Given the description of an element on the screen output the (x, y) to click on. 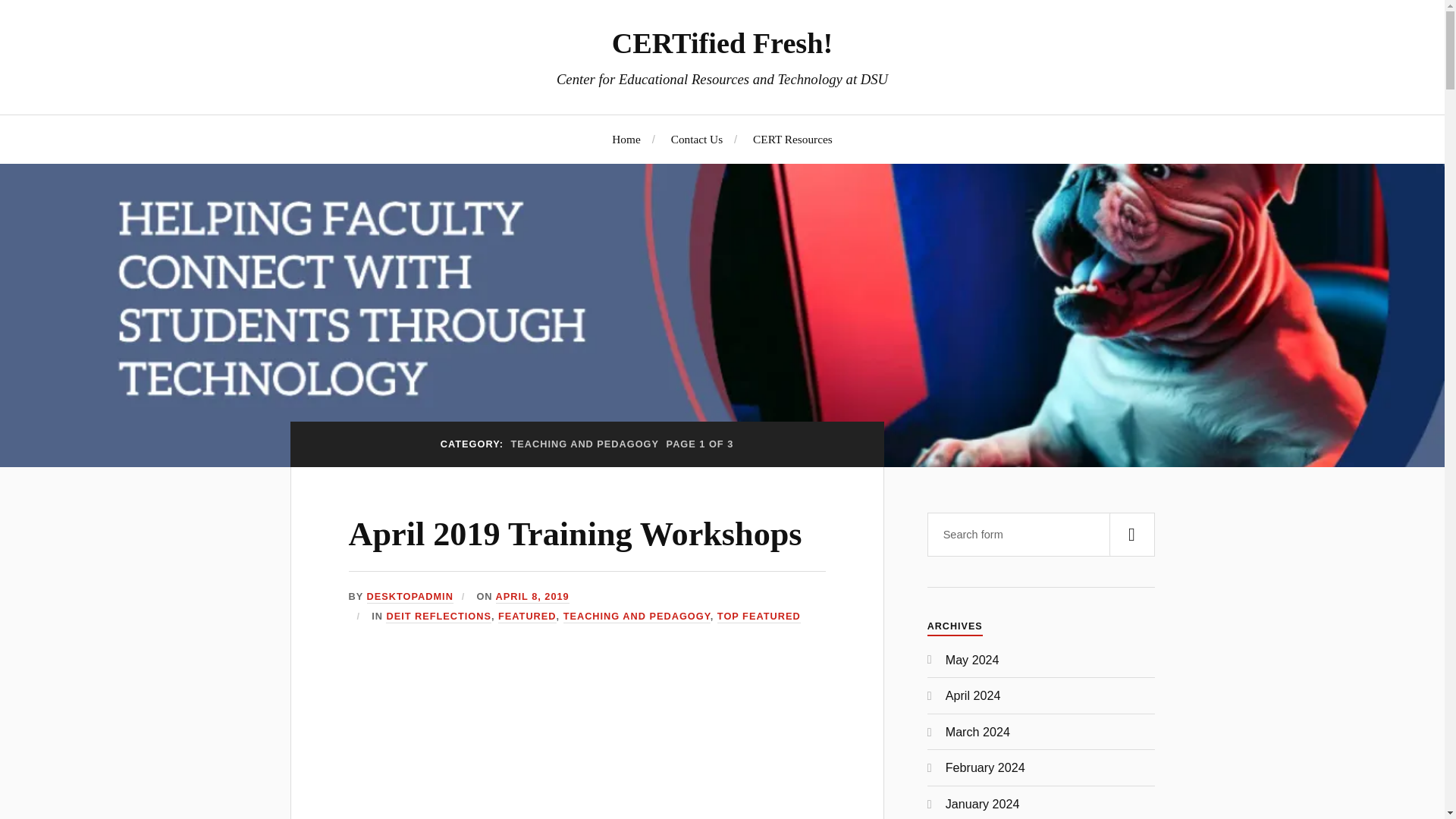
DESKTOPADMIN (409, 596)
DEIT REFLECTIONS (438, 616)
April 2019 Training Workshops (575, 533)
TEACHING AND PEDAGOGY (636, 616)
CERT Resources (792, 138)
Contact Us (696, 138)
Posts by desktopAdmin (409, 596)
CERTified Fresh! (721, 42)
TOP FEATURED (758, 616)
APRIL 8, 2019 (532, 596)
